Given the description of an element on the screen output the (x, y) to click on. 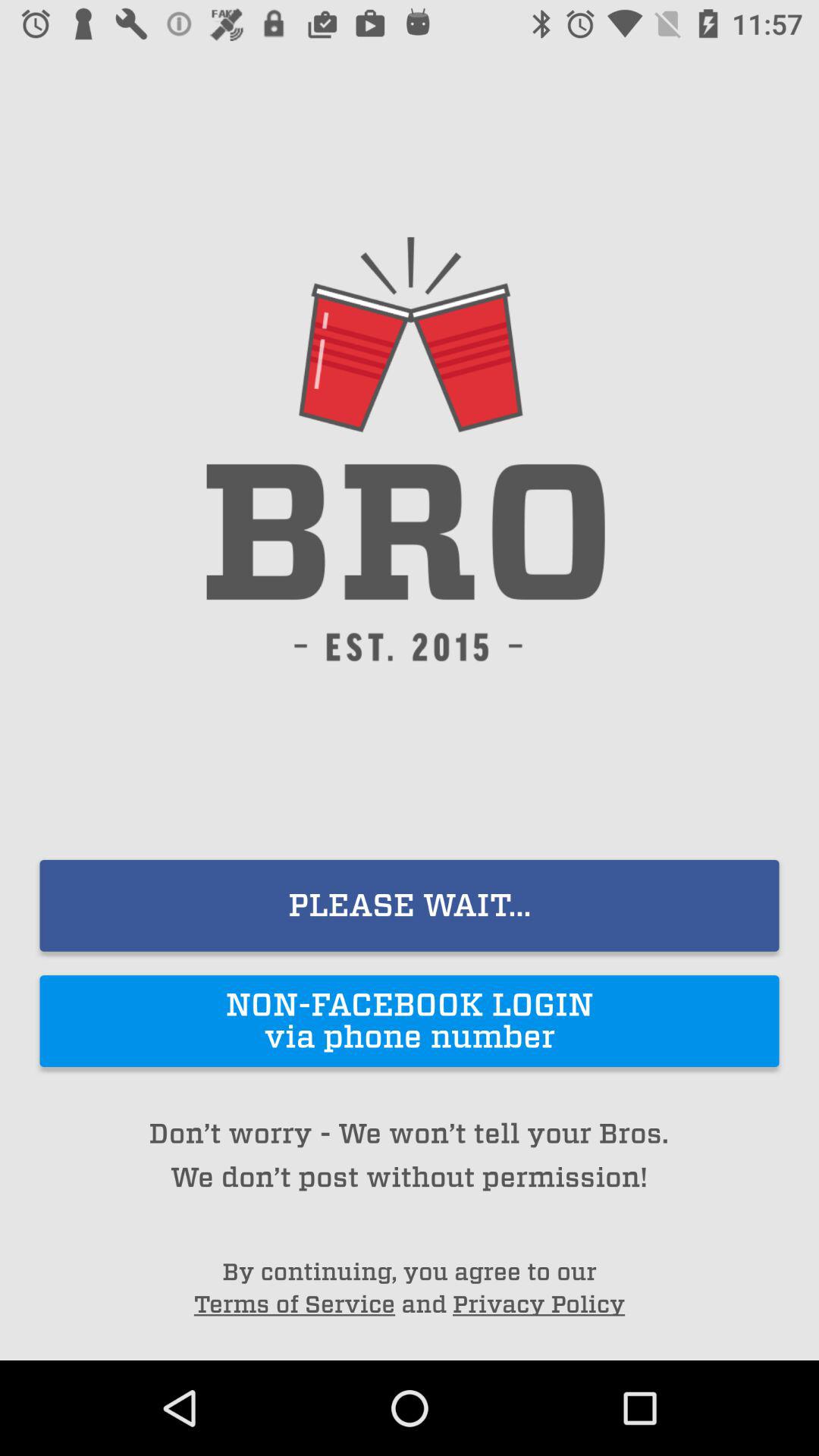
jump until the privacy policy item (538, 1304)
